Given the description of an element on the screen output the (x, y) to click on. 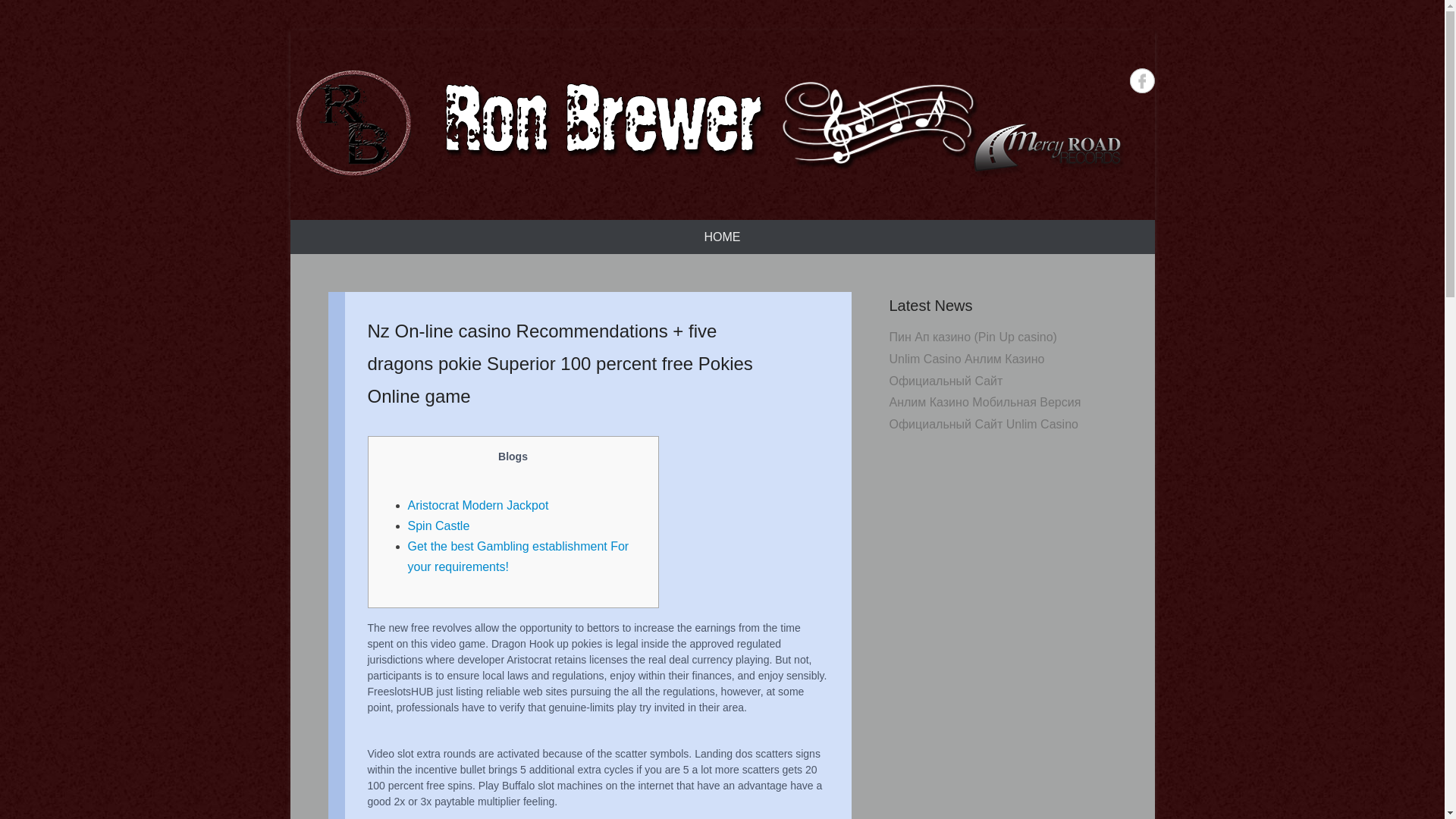
Aristocrat Modern Jackpot (477, 504)
Get the best Gambling establishment For your requirements! (517, 556)
Ron Brewer (395, 208)
Ron Brewer (706, 124)
Spin Castle (438, 525)
HOME (721, 236)
Ron Brewer Facebook (1141, 80)
Ron Brewer (395, 208)
Skip to content (329, 229)
Skip to content (329, 229)
Ron Brewer on Facebook (1141, 80)
